Given the description of an element on the screen output the (x, y) to click on. 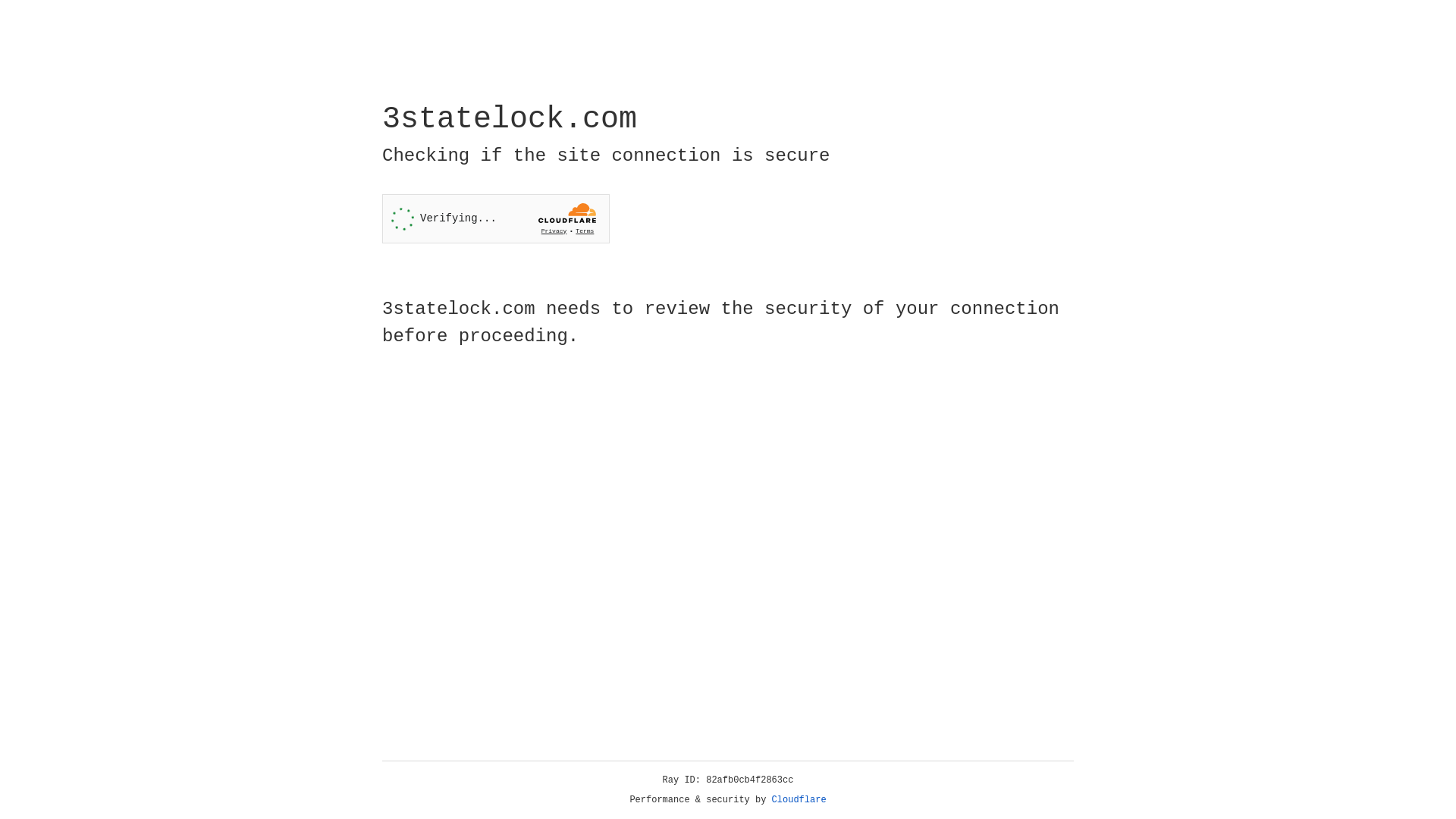
Widget containing a Cloudflare security challenge Element type: hover (495, 218)
Cloudflare Element type: text (798, 799)
